Given the description of an element on the screen output the (x, y) to click on. 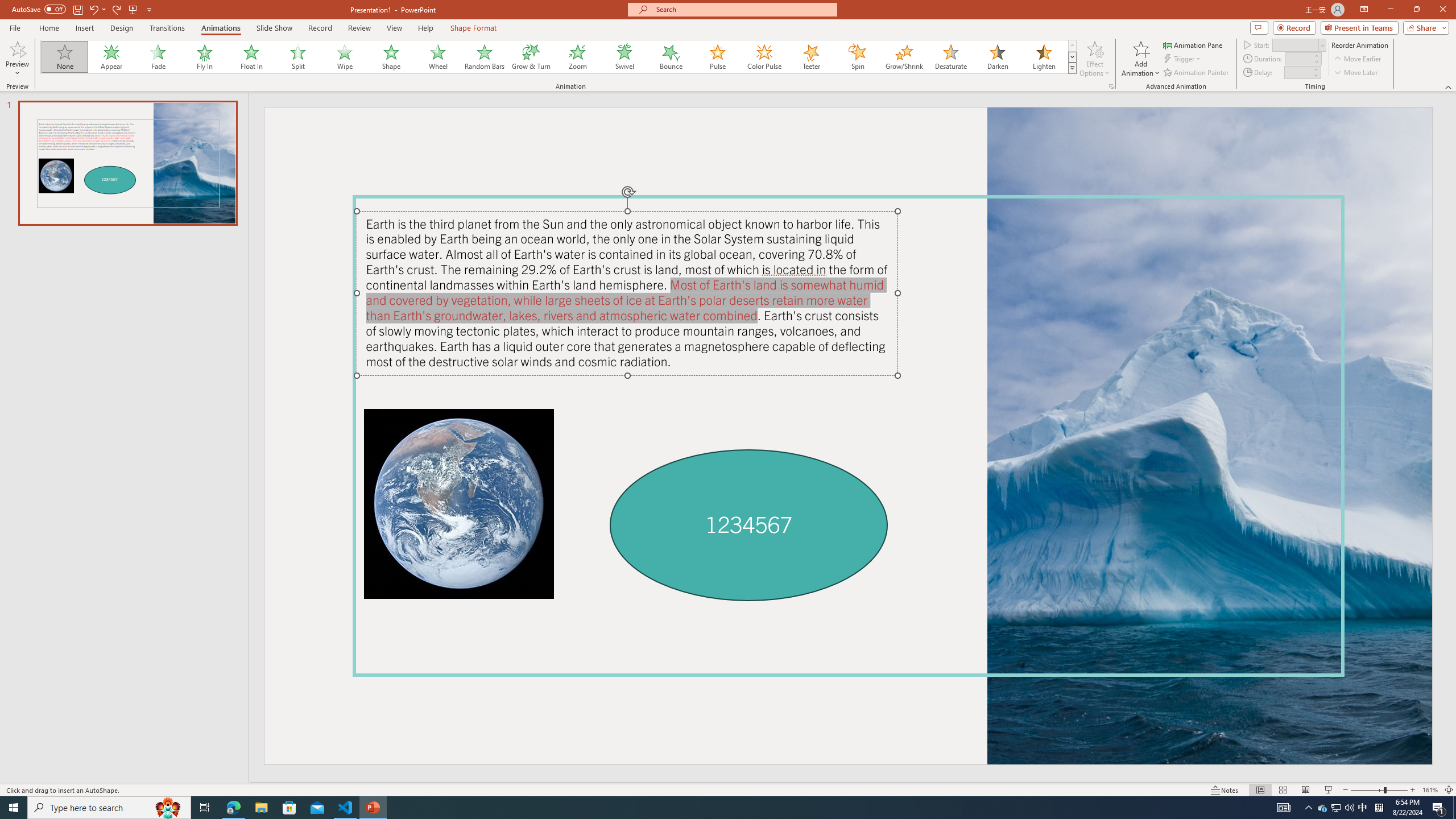
Lighten (1043, 56)
Move Earlier (1357, 58)
Animation Styles (1071, 67)
